Given the description of an element on the screen output the (x, y) to click on. 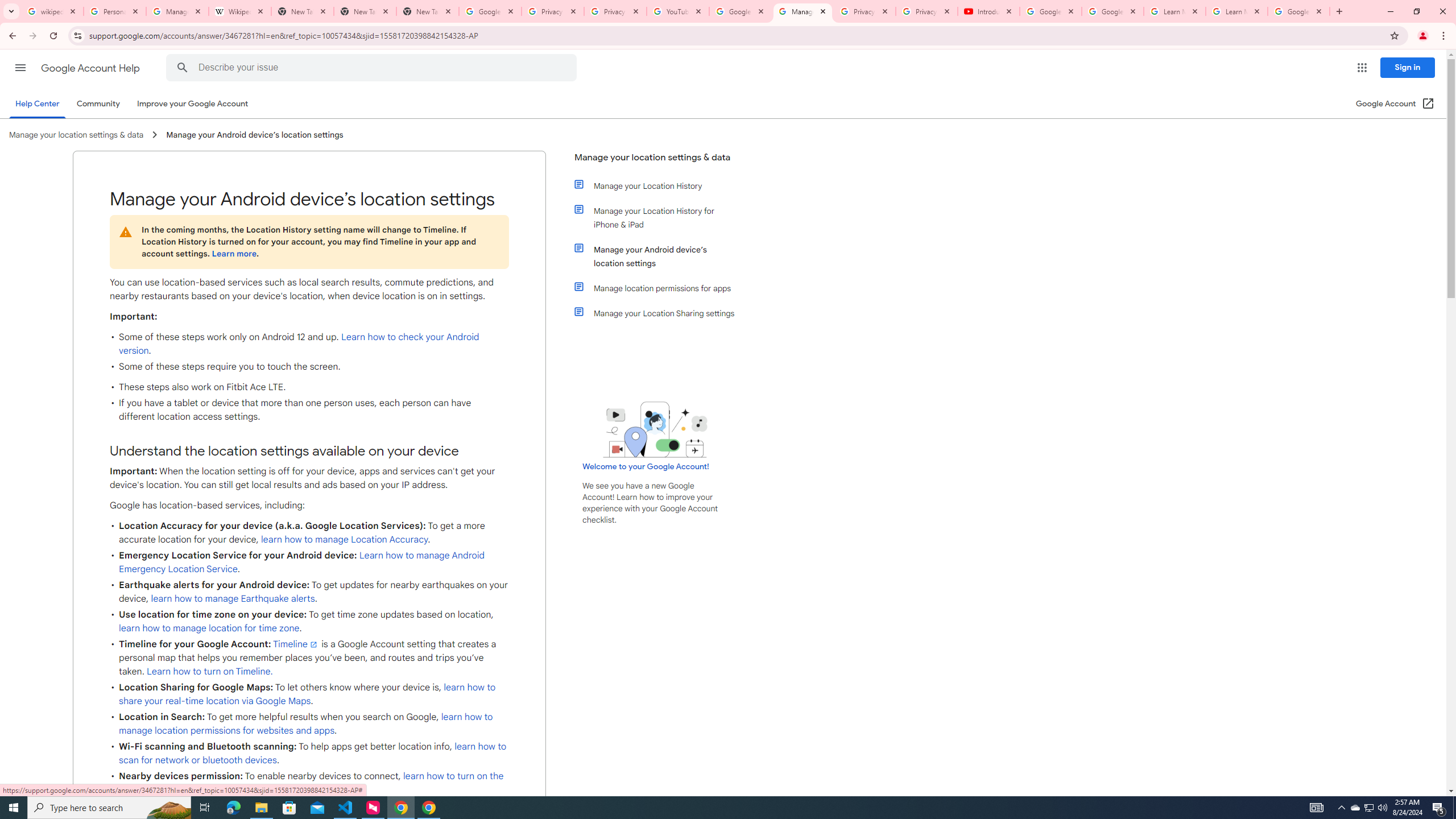
learn how to manage location for time zone (209, 627)
Manage your location settings & data (656, 161)
learn how to turn on the Nearby devices permission (311, 783)
Search Help Center (181, 67)
Manage your Location History (661, 185)
YouTube (678, 11)
Welcome to your Google Account! (645, 466)
Google Account (1298, 11)
